Given the description of an element on the screen output the (x, y) to click on. 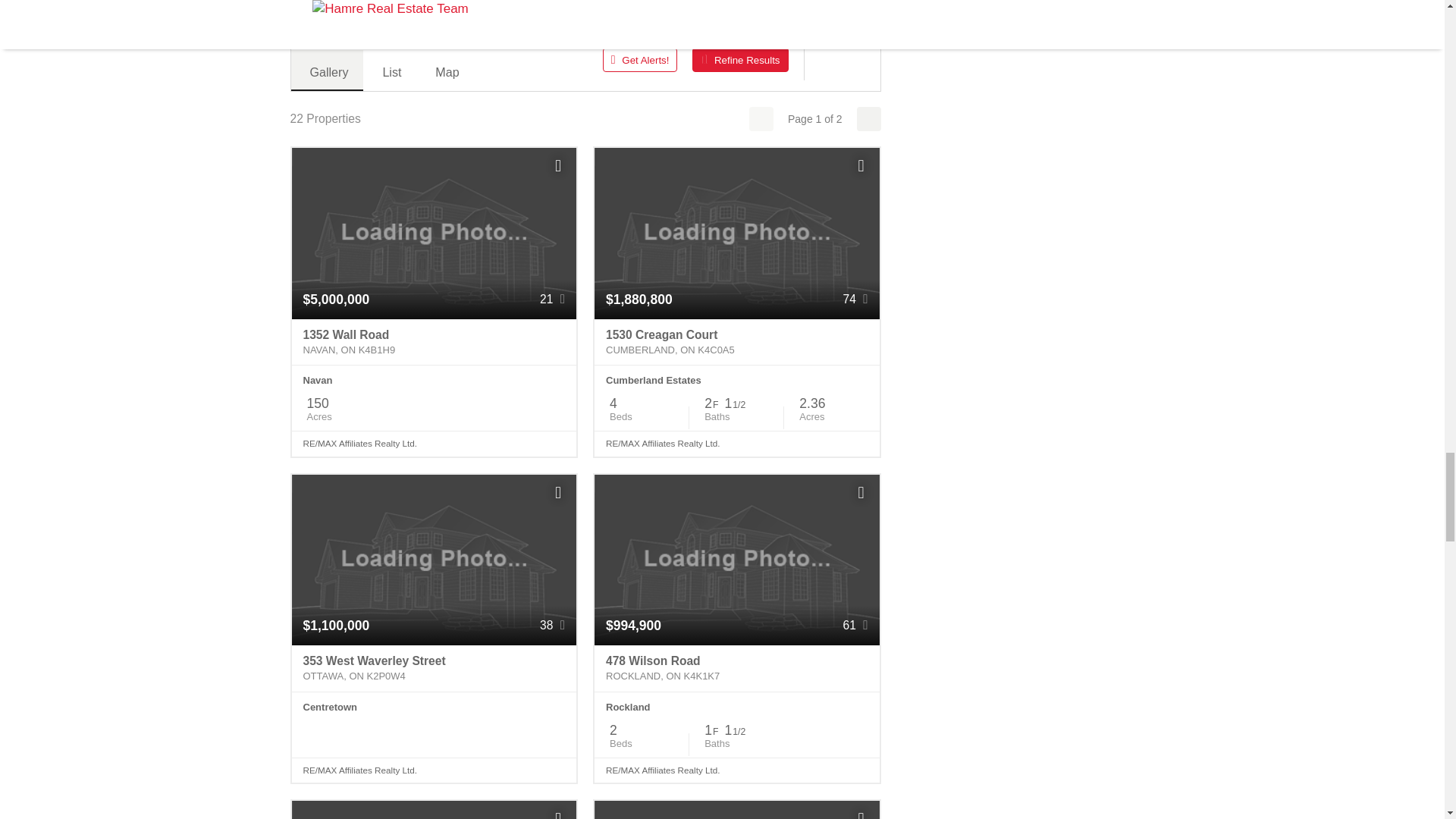
1530 Creagan Court Cumberland,  ON K4C0A5 (736, 342)
353 West Waverley Street Ottawa,  ON K2P0W4 (433, 668)
1352 Wall Road Navan,  ON K4B1H9 (433, 342)
478 Wilson Road Rockland,  ON K4K1K7 (736, 668)
